Given the description of an element on the screen output the (x, y) to click on. 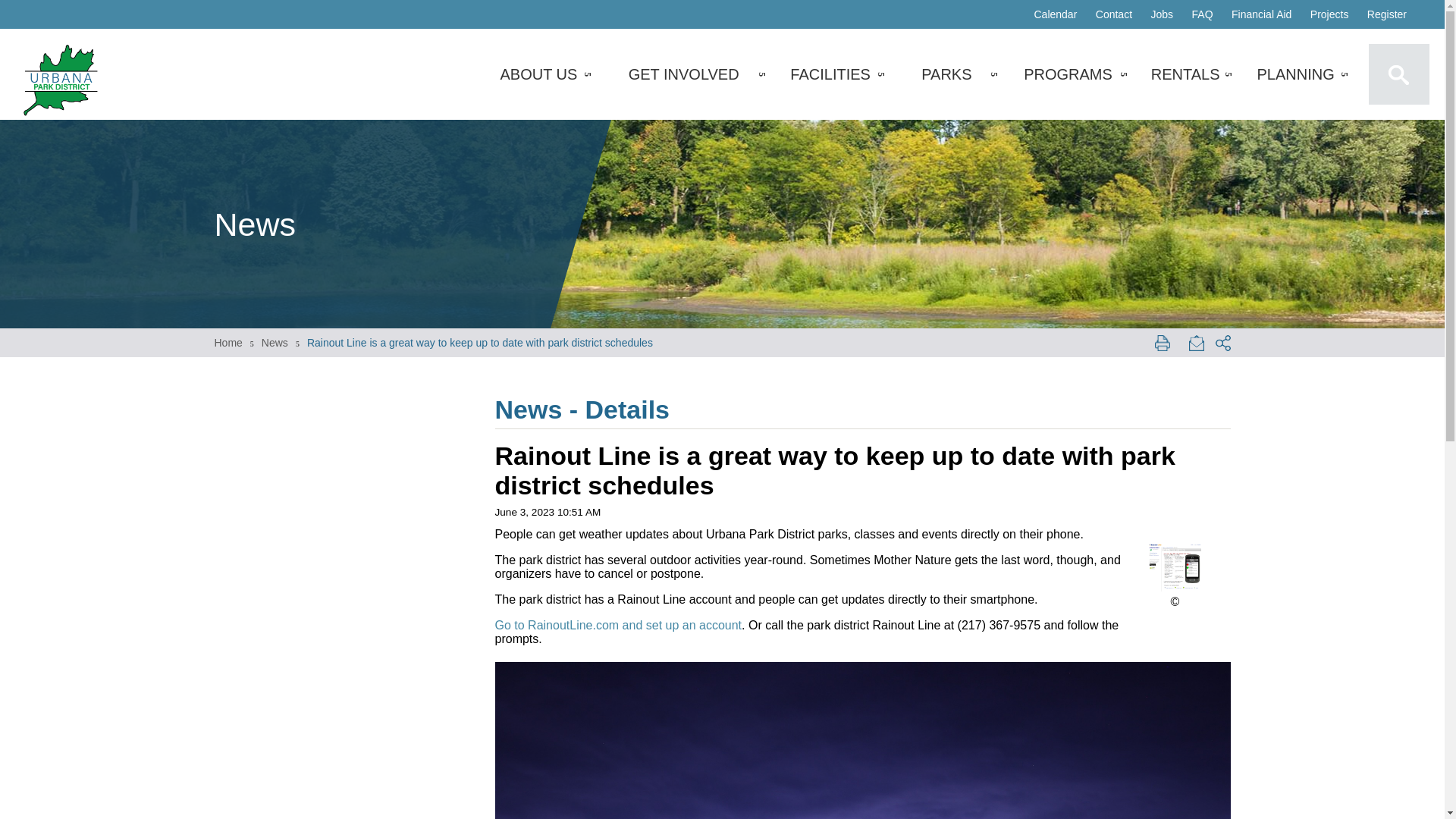
Projects (1329, 14)
Register (1386, 14)
Search (1398, 74)
GET INVOLVED (683, 73)
FACILITIES (830, 73)
Contact (1113, 14)
Financial Aid (1261, 14)
Jobs (1161, 14)
Calendar (1055, 14)
FAQ (1203, 14)
ABOUT US (537, 73)
